Given the description of an element on the screen output the (x, y) to click on. 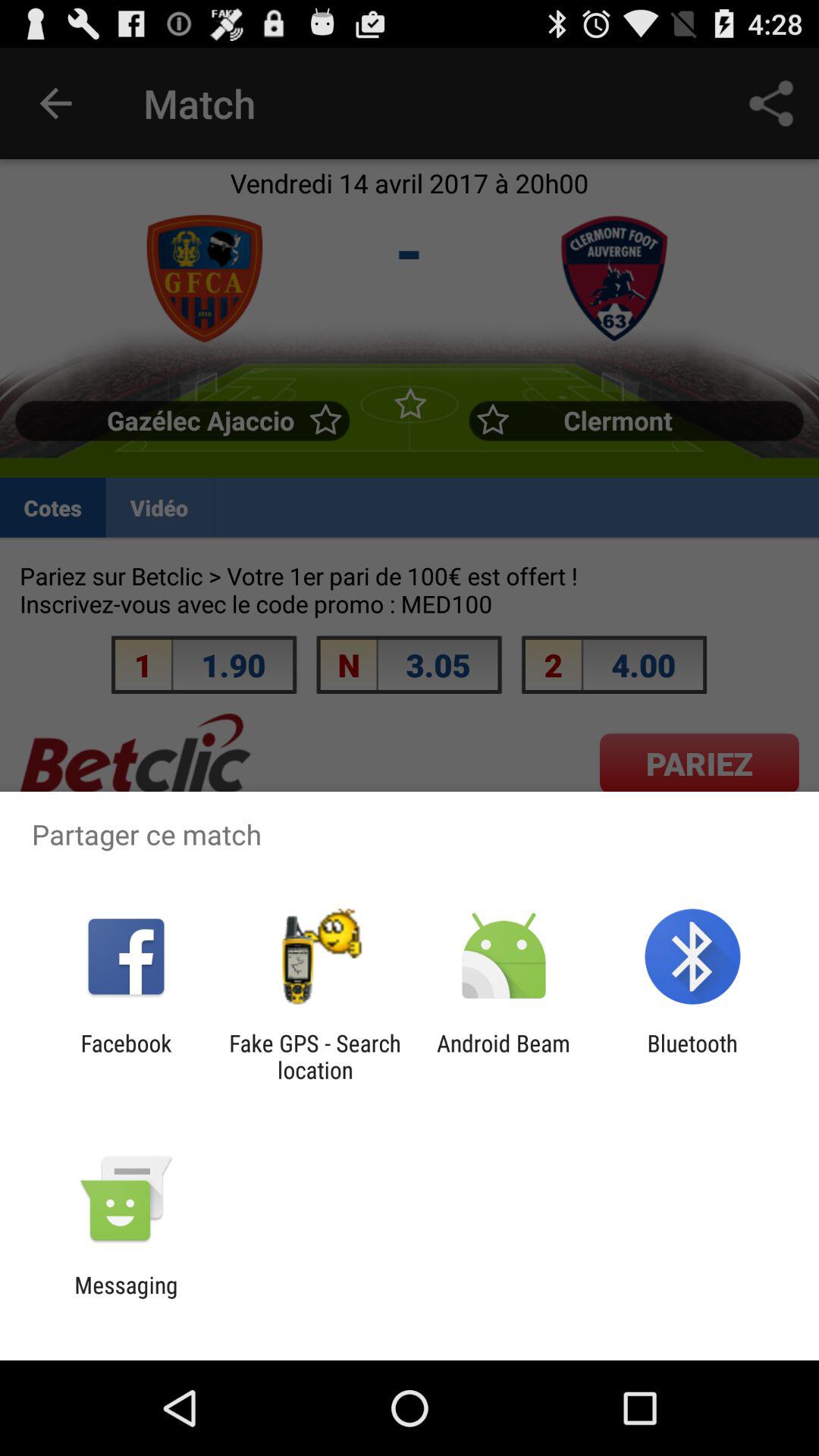
jump until the android beam (503, 1056)
